Given the description of an element on the screen output the (x, y) to click on. 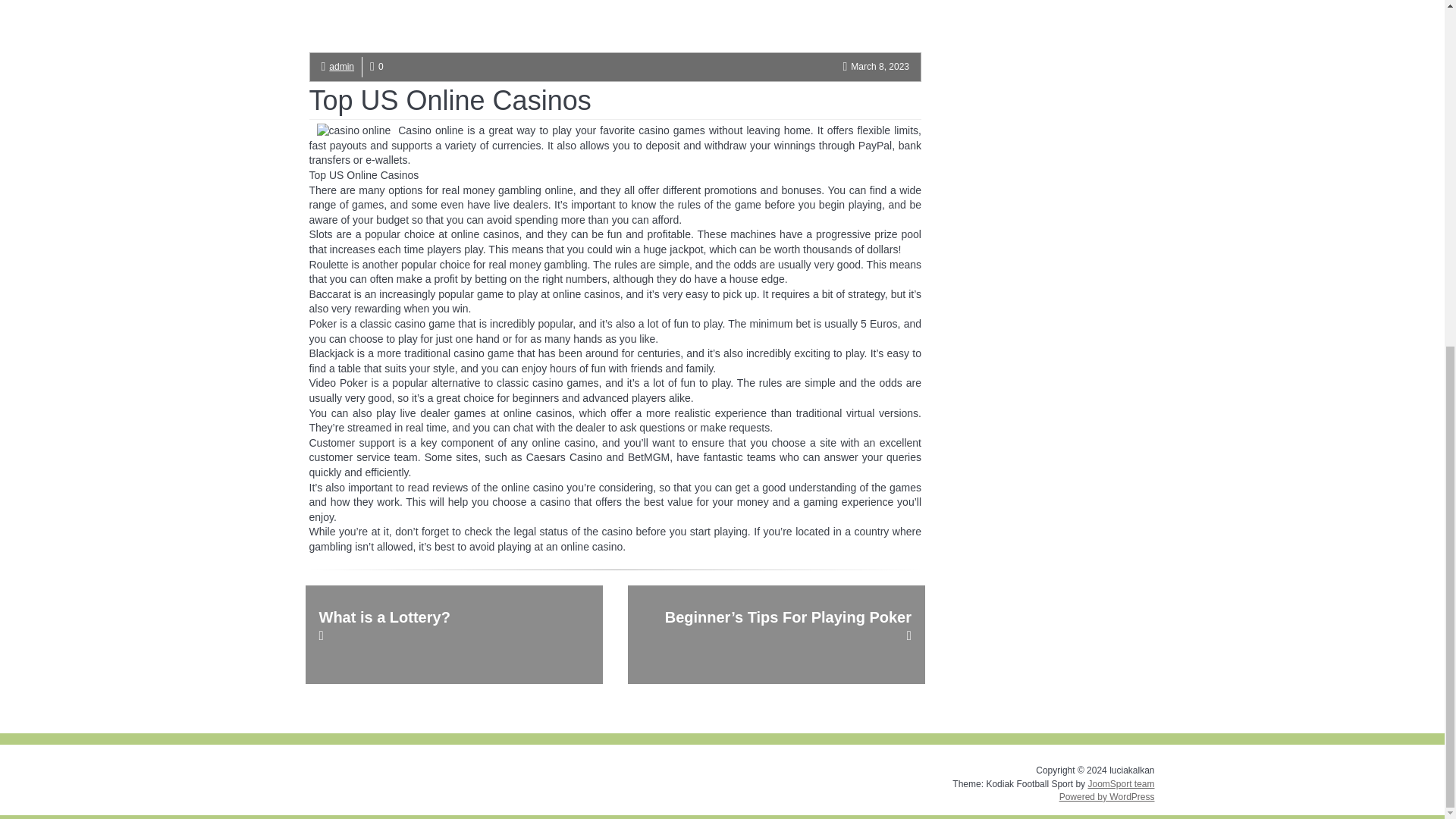
 The Best WordPress Sport Plugin for your league and club  (1120, 783)
admin (341, 66)
What is a Lottery? (453, 634)
